Given the description of an element on the screen output the (x, y) to click on. 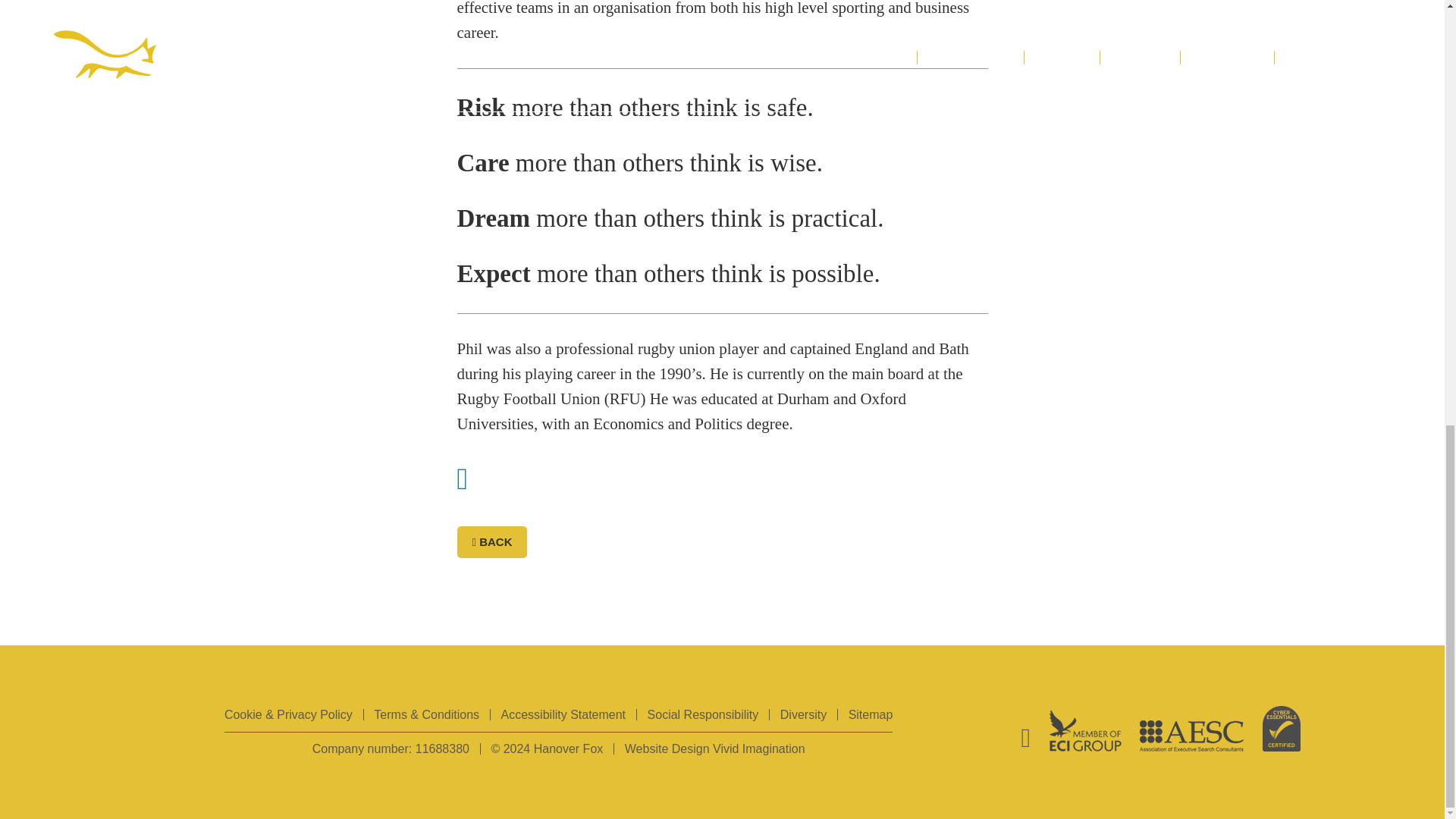
Accessibility Statement (563, 714)
Social Responsibility (702, 714)
Diversity (803, 714)
BACK (492, 541)
Website Design Vivid Imagination (714, 748)
Sitemap (870, 714)
